Given the description of an element on the screen output the (x, y) to click on. 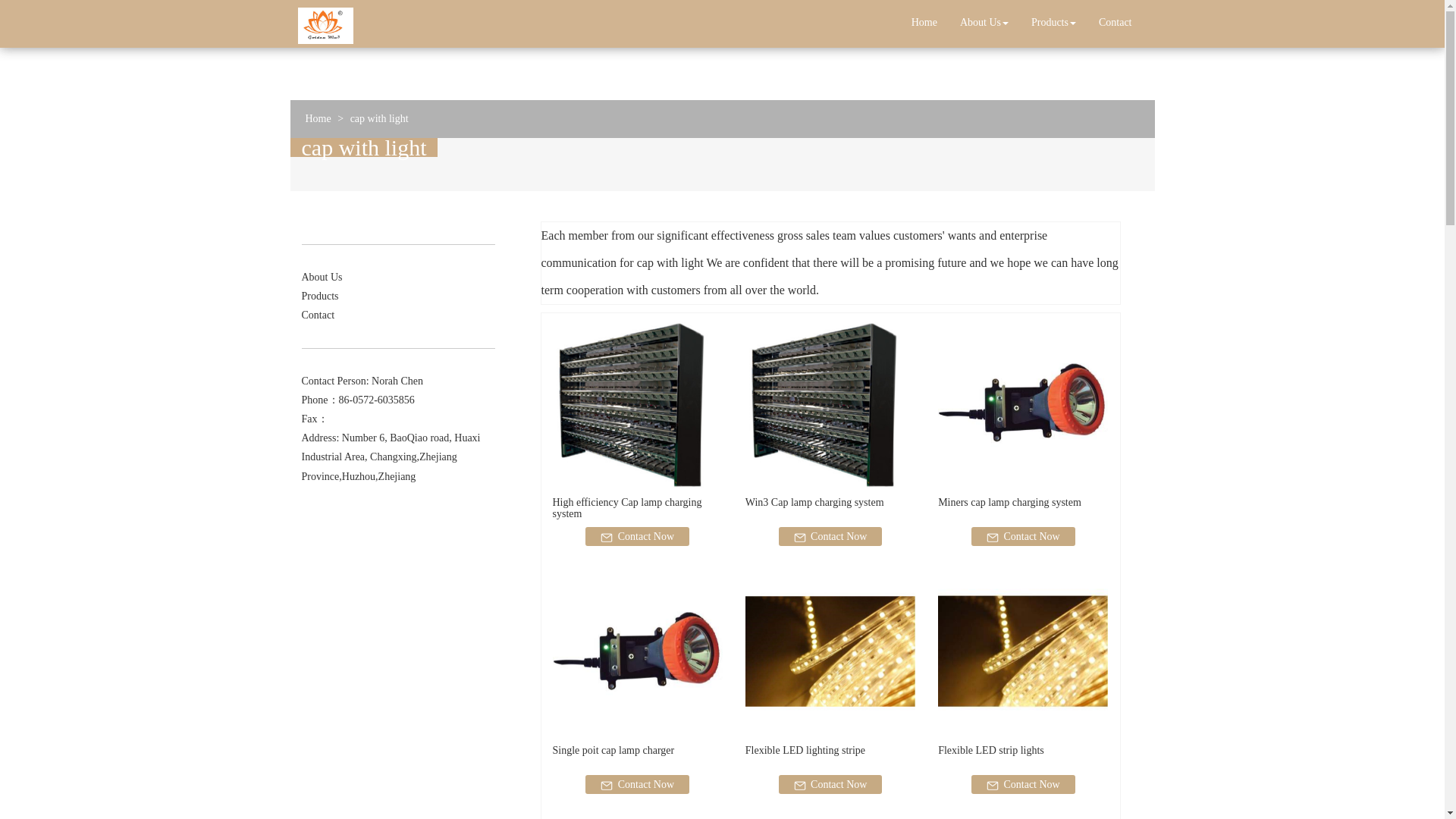
Products (1053, 22)
About Us (984, 22)
Home (924, 22)
